Given the description of an element on the screen output the (x, y) to click on. 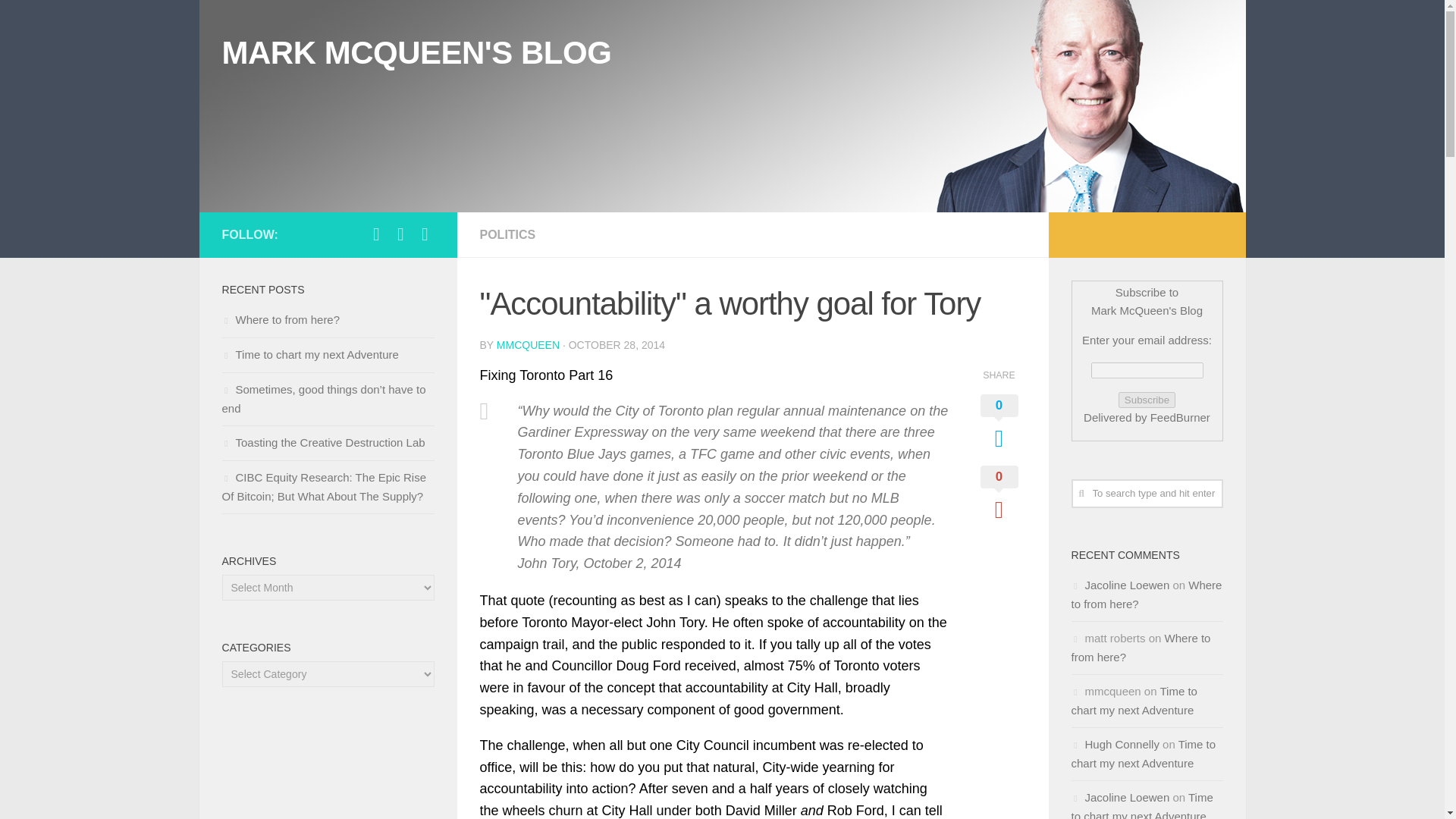
Subscribe to MARK MCQUEEN'S BLOG (423, 234)
Posts by mmcqueen (527, 345)
Add Mark McQueen on Linkedin (400, 234)
Jacoline Loewen (1126, 584)
Subscribe (1146, 399)
Where to from here? (1145, 594)
FeedBurner (1179, 417)
Toasting the Creative Destruction Lab (323, 441)
Where to from here? (280, 318)
MMCQUEEN (527, 345)
POLITICS (507, 234)
Follow Mark McQueen on Twitter (375, 234)
To search type and hit enter (1146, 493)
MARK MCQUEEN'S BLOG (416, 53)
Subscribe (1146, 399)
